Given the description of an element on the screen output the (x, y) to click on. 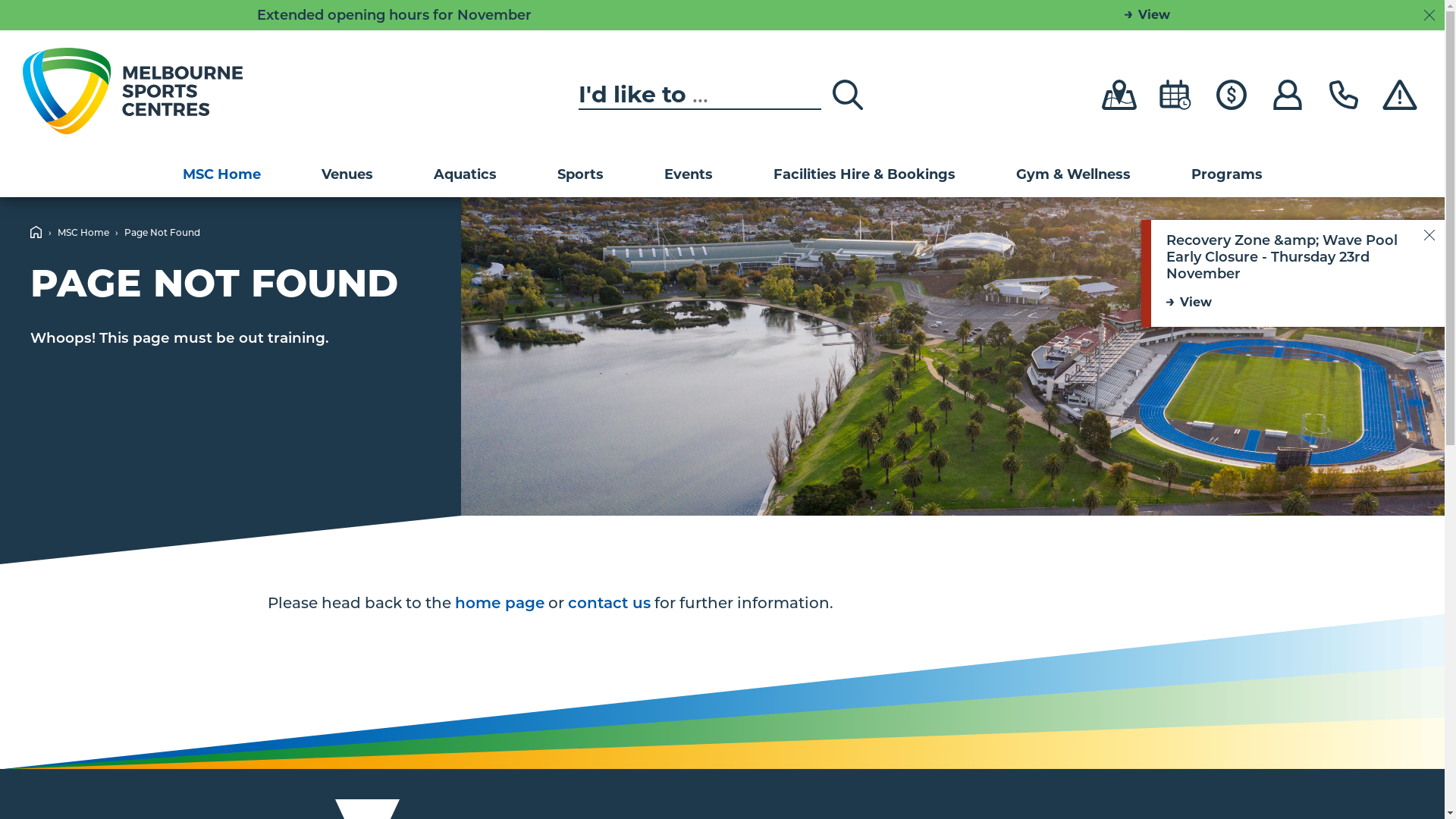
contact us Element type: text (608, 602)
Venues Element type: text (347, 174)
MSC Home Element type: text (220, 174)
Home Element type: text (36, 231)
Events Element type: text (688, 174)
View Element type: text (1146, 15)
Aquatics Element type: text (465, 174)
Programs Element type: text (1226, 174)
Close Element type: text (1429, 234)
Sports Element type: text (579, 174)
Close Element type: text (1429, 15)
Facilities Hire & Bookings Element type: text (864, 174)
home page Element type: text (499, 602)
View Element type: text (1290, 302)
MSC Home Element type: text (83, 232)
Melbourne Sports Centres Element type: text (132, 90)
Gym & Wellness Element type: text (1073, 174)
